Given the description of an element on the screen output the (x, y) to click on. 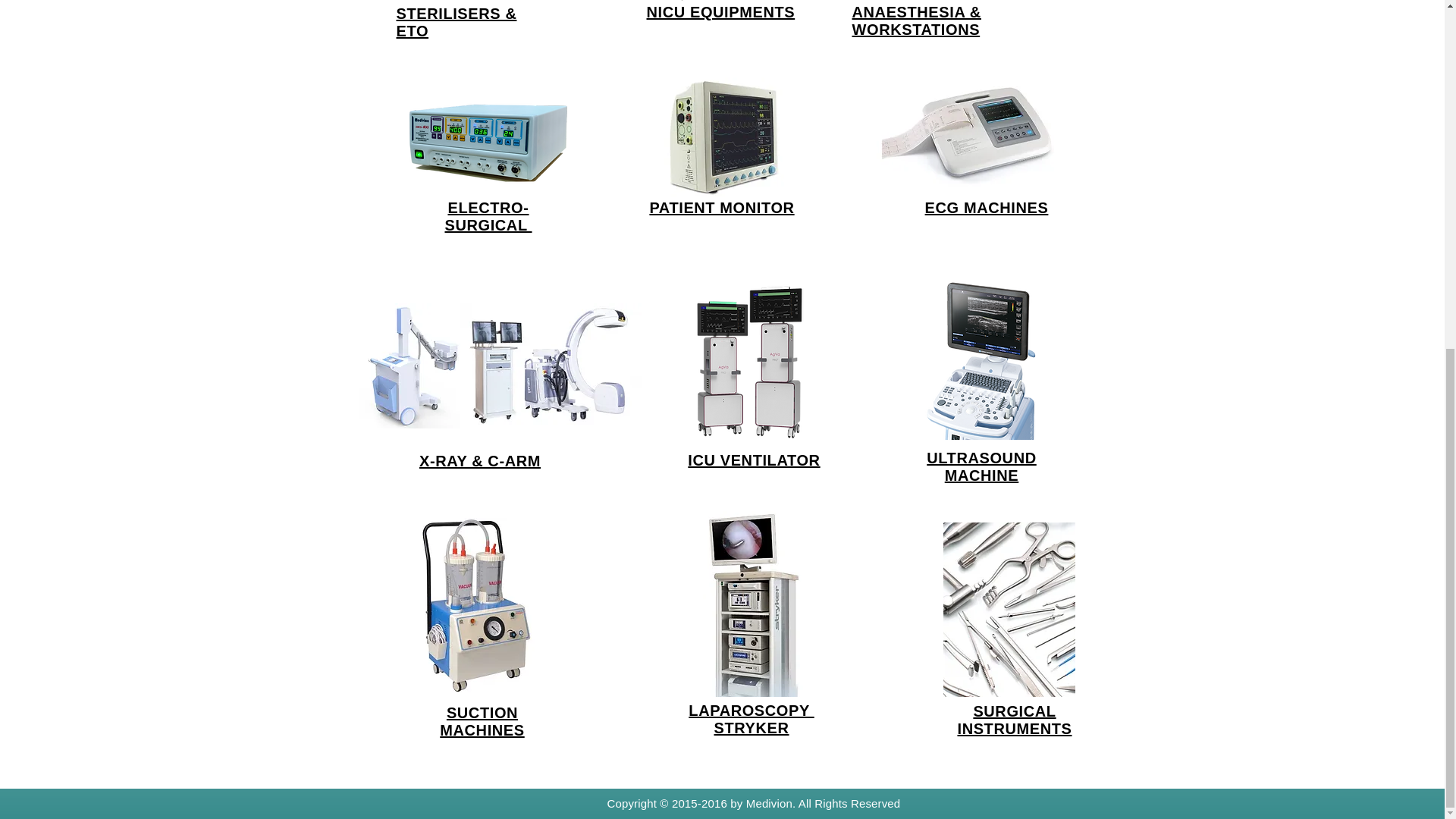
NICU EQUIPMENTS (720, 12)
ELECTRO-SURGICAL  (487, 216)
PATIENT MONITOR (721, 207)
